Given the description of an element on the screen output the (x, y) to click on. 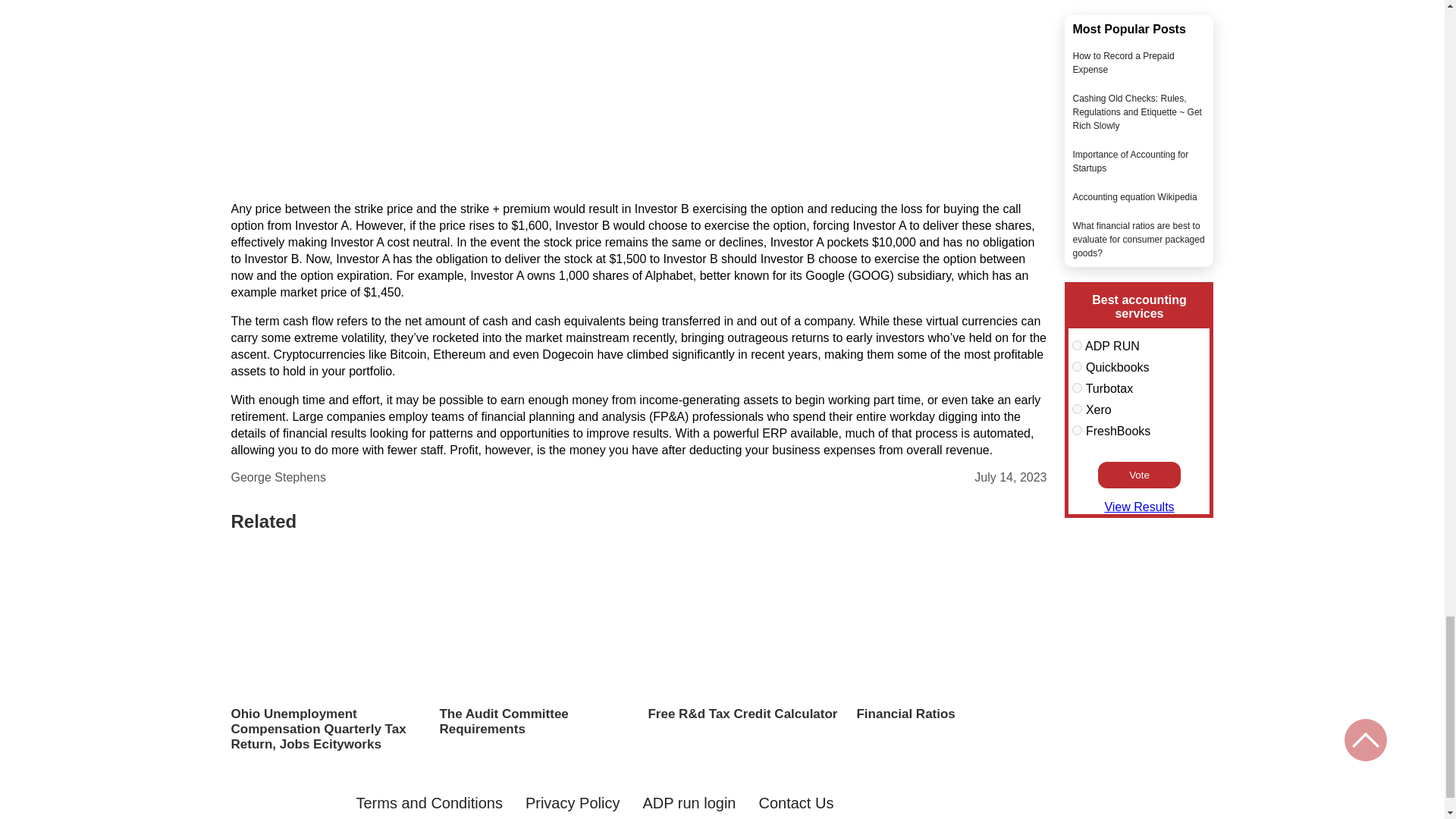
Privacy Policy (572, 803)
The Audit Committee Requirements (533, 721)
George Stephens (277, 477)
Terms and Conditions (428, 803)
ADP run login (688, 803)
Financial Ratios (951, 713)
Contact Us (795, 803)
